Given the description of an element on the screen output the (x, y) to click on. 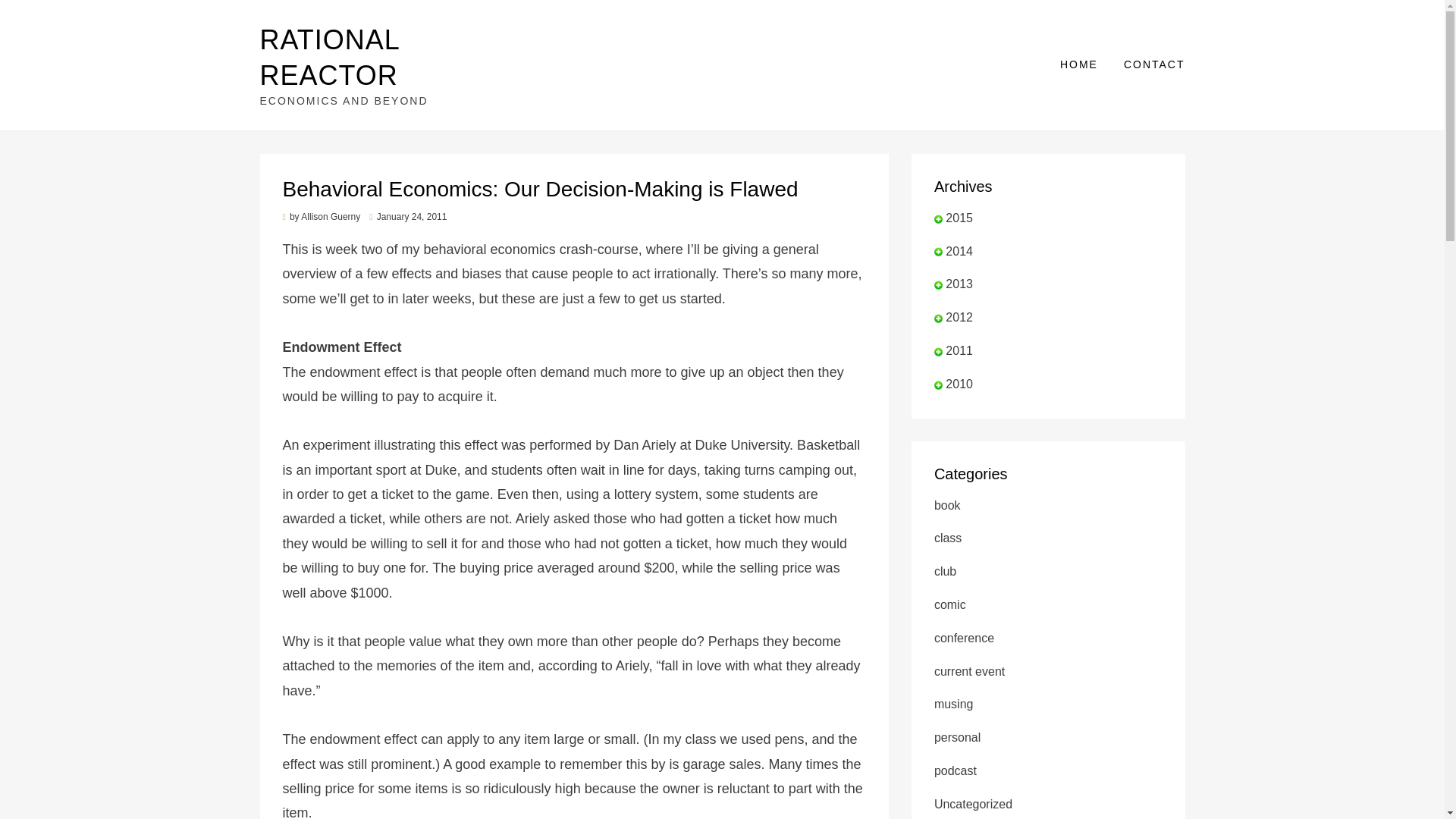
HOME (1078, 64)
2015 (958, 217)
January 24, 2011 (407, 216)
CONTACT (1147, 64)
Rational Reactor (328, 57)
2013 (958, 283)
2014 (958, 250)
Allison Guerny (330, 216)
RATIONAL REACTOR (328, 57)
